Given the description of an element on the screen output the (x, y) to click on. 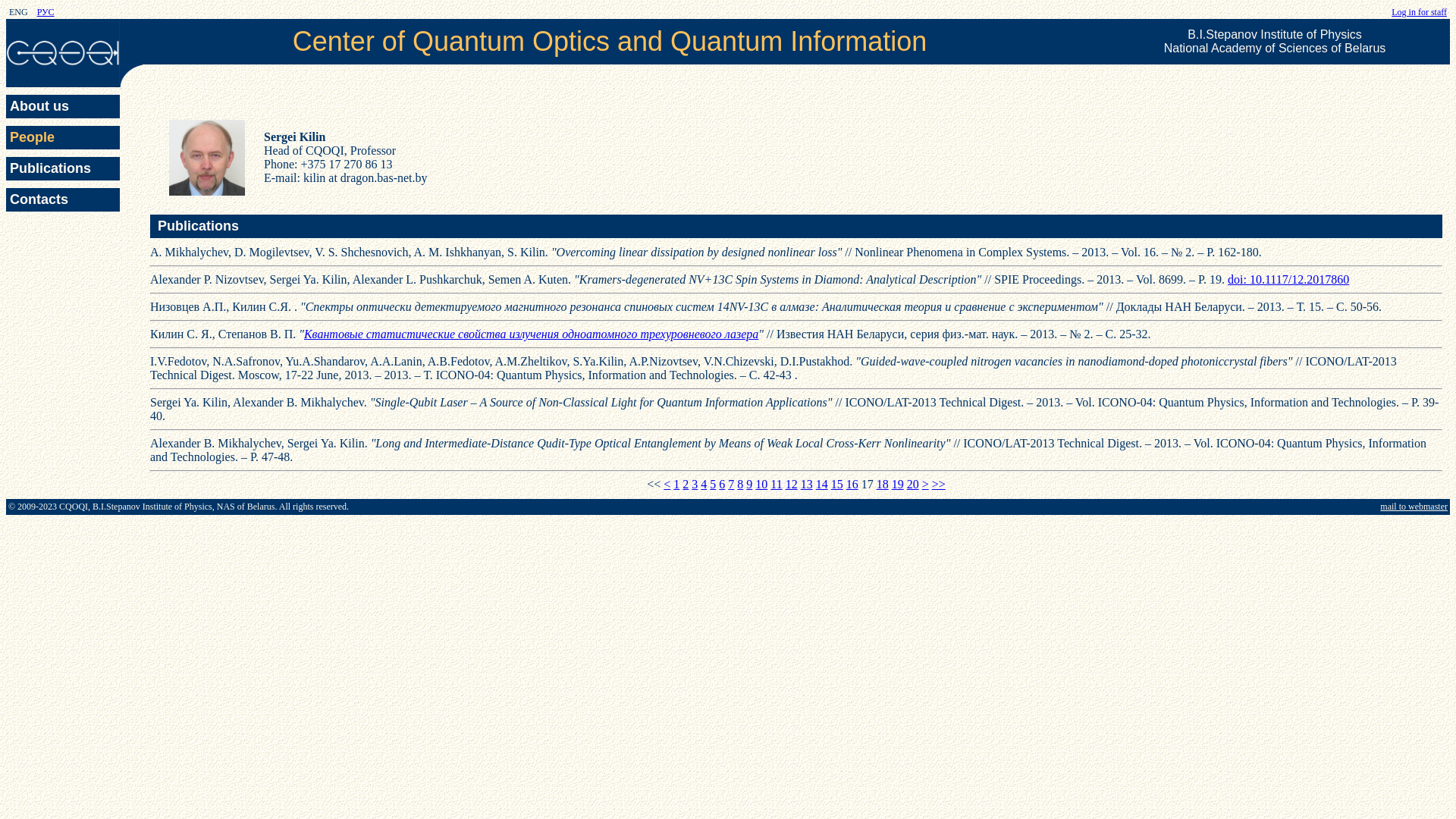
19 Element type: text (897, 483)
People Element type: text (62, 137)
16 Element type: text (852, 483)
Log in for staff Element type: text (1418, 11)
doi: 10.1117/12.2017860 Element type: text (1288, 279)
8 Element type: text (740, 483)
11 Element type: text (775, 483)
13 Element type: text (806, 483)
7 Element type: text (731, 483)
1 Element type: text (676, 483)
9 Element type: text (749, 483)
Contacts Element type: text (62, 199)
20 Element type: text (912, 483)
2 Element type: text (685, 483)
5 Element type: text (712, 483)
3 Element type: text (694, 483)
12 Element type: text (791, 483)
4 Element type: text (703, 483)
6 Element type: text (721, 483)
Publications Element type: text (62, 168)
< Element type: text (666, 483)
>> Element type: text (938, 483)
18 Element type: text (882, 483)
10 Element type: text (761, 483)
15 Element type: text (837, 483)
14 Element type: text (821, 483)
mail to webmaster Element type: text (1413, 506)
About us Element type: text (62, 106)
> Element type: text (925, 483)
